Given the description of an element on the screen output the (x, y) to click on. 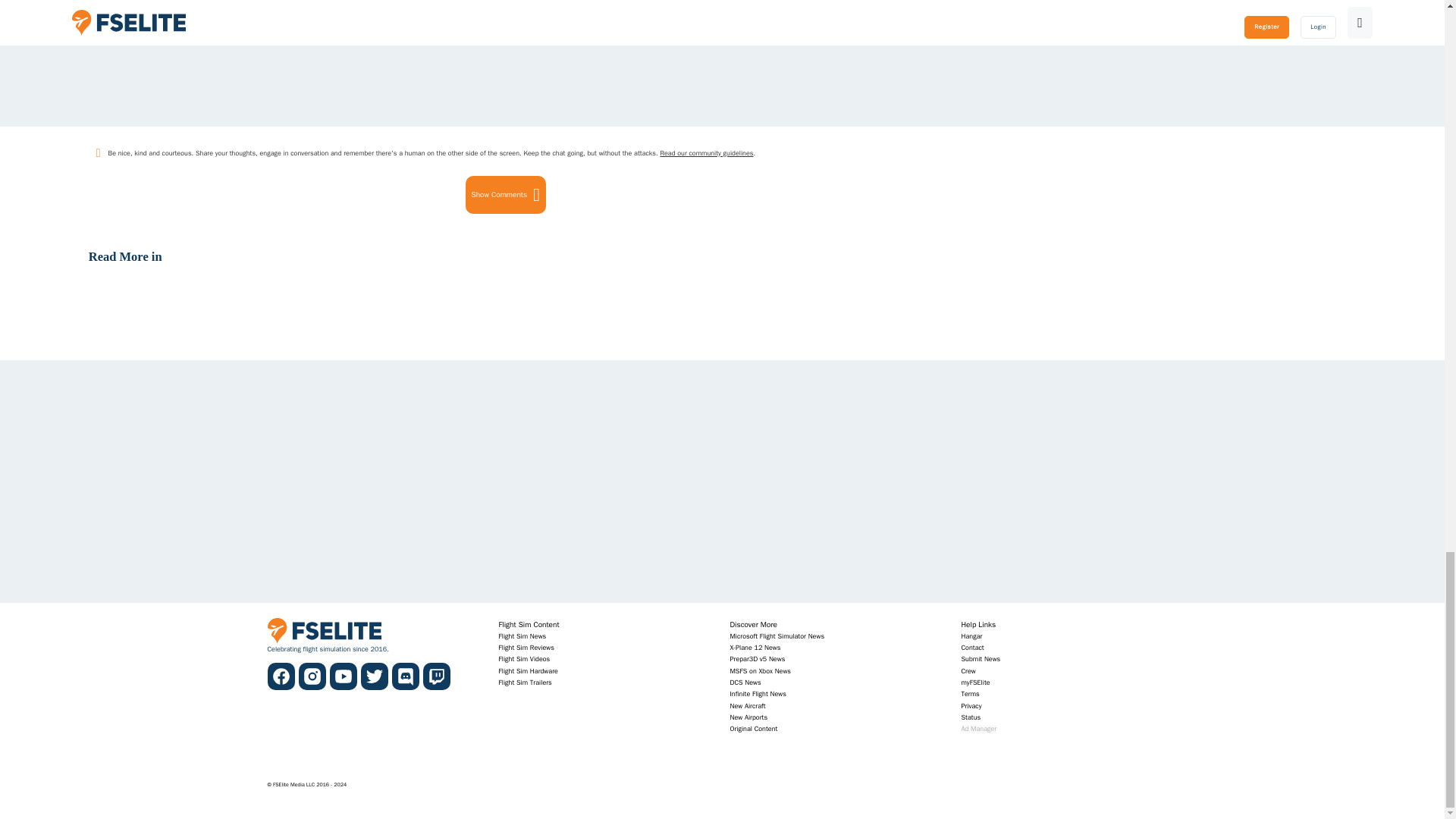
Microsoft Flight Simulator news (776, 636)
Flight Sim hardware (528, 671)
Flight Simulator Product Reviews (526, 647)
Watch Flight Simulator Videos (524, 659)
Discover more in Digital Combat Simulator (744, 682)
Discover more in Airports (748, 717)
Discover more in Aircraft (747, 706)
Flight Simulator News (523, 636)
X-Plane 12 News (754, 647)
Prepar3D v5 News (756, 659)
